Given the description of an element on the screen output the (x, y) to click on. 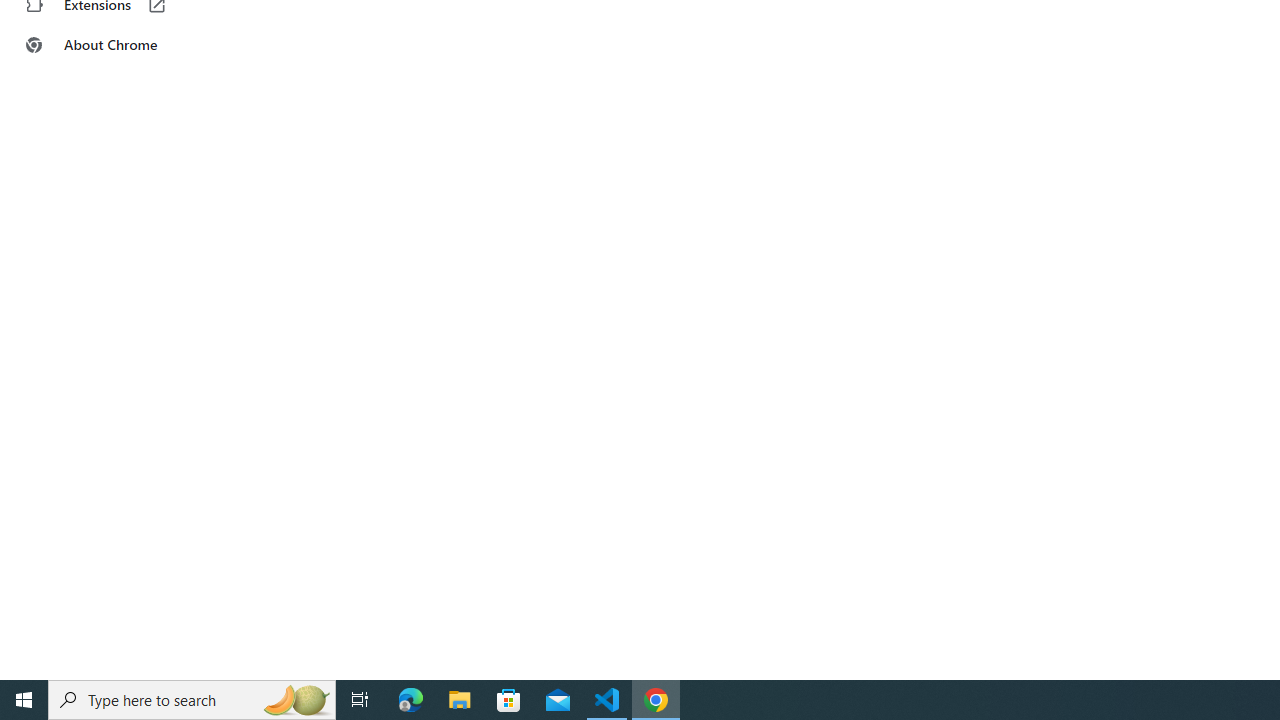
About Chrome (124, 44)
